Given the description of an element on the screen output the (x, y) to click on. 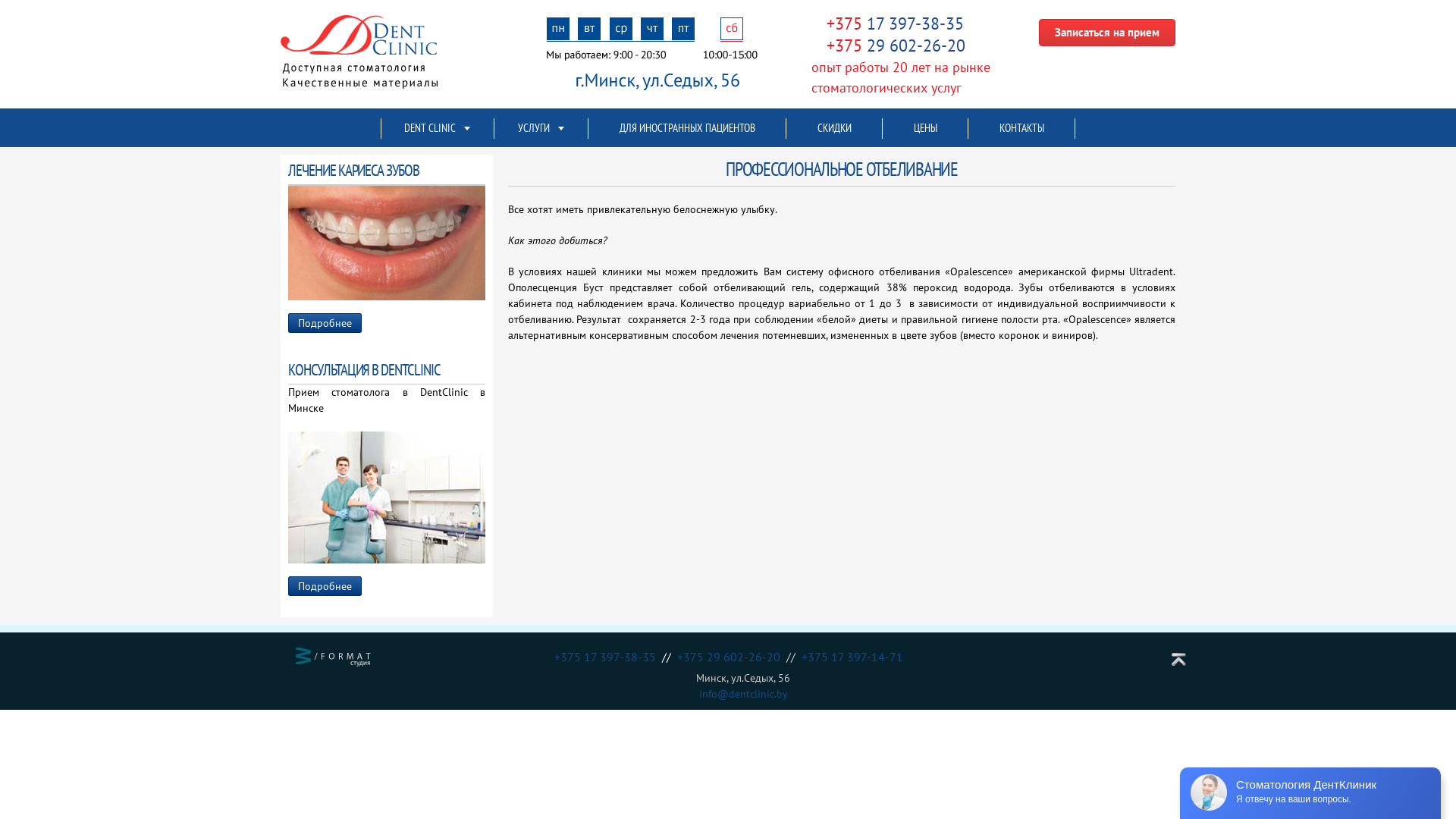
+375 17 397-38-35 Element type: text (894, 25)
+375 29 602-26-20 Element type: text (895, 45)
+375 29 602-26-20  Element type: text (730, 656)
info@dentclinic.by Element type: text (743, 693)
+375 17 397-38-35  Element type: text (607, 656)
+375 17 397-14-71 Element type: text (851, 656)
